Given the description of an element on the screen output the (x, y) to click on. 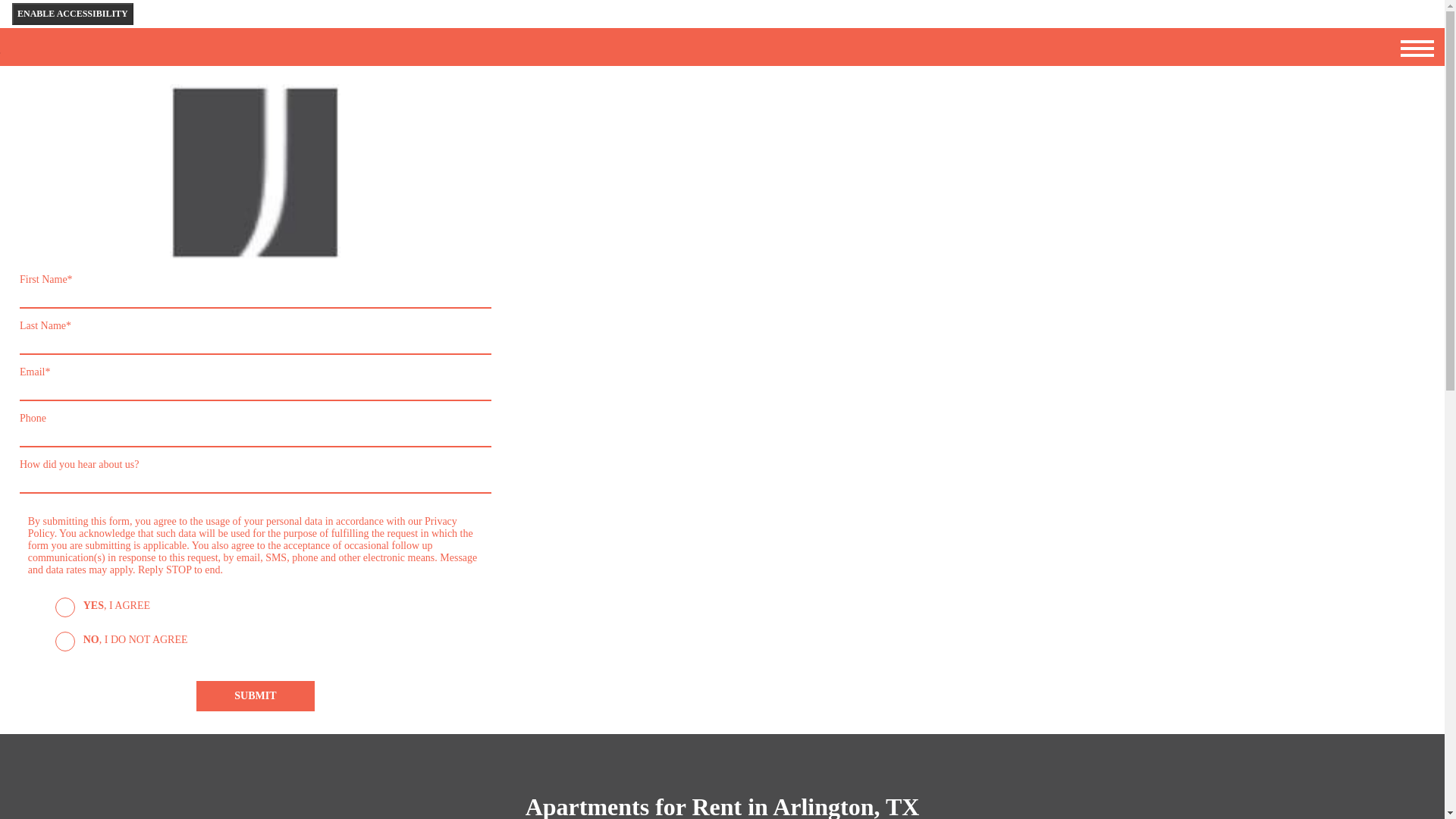
ENABLE ACCESSIBILITY (72, 14)
Privacy Policy (242, 526)
Menu Button (1417, 47)
Submit (255, 695)
Skip to Footer (48, 53)
Submit (255, 695)
